Given the description of an element on the screen output the (x, y) to click on. 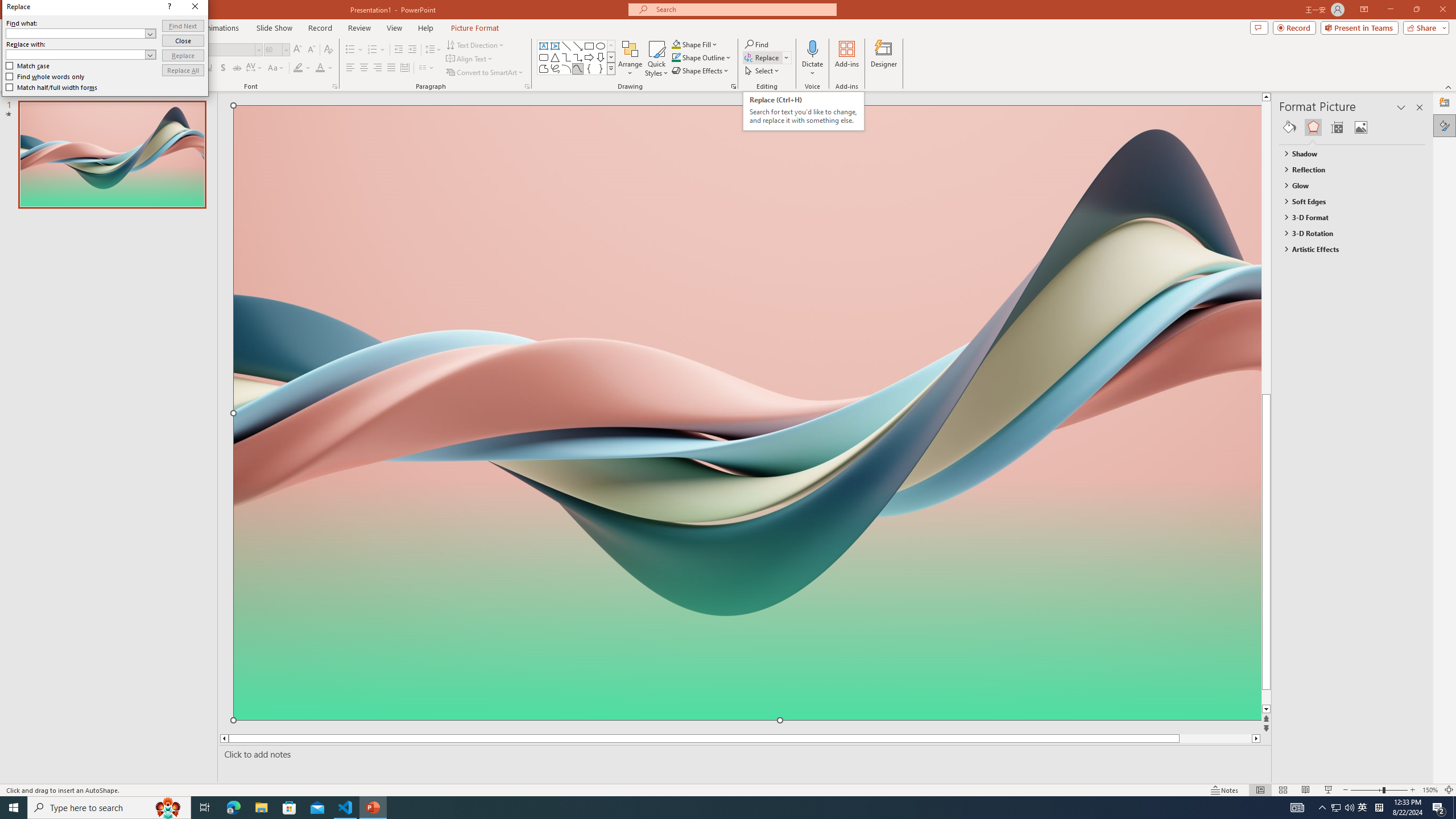
Line Spacing (433, 49)
Row up (611, 45)
Soft Edges (1347, 201)
Collapse the Ribbon (1448, 86)
Arc (566, 68)
Text Highlight Color Yellow (297, 67)
Shape Effects (700, 69)
Shape Outline (701, 56)
Designer (1444, 102)
Font Size (276, 49)
Page down (1287, 696)
Show desktop (1454, 807)
